Given the description of an element on the screen output the (x, y) to click on. 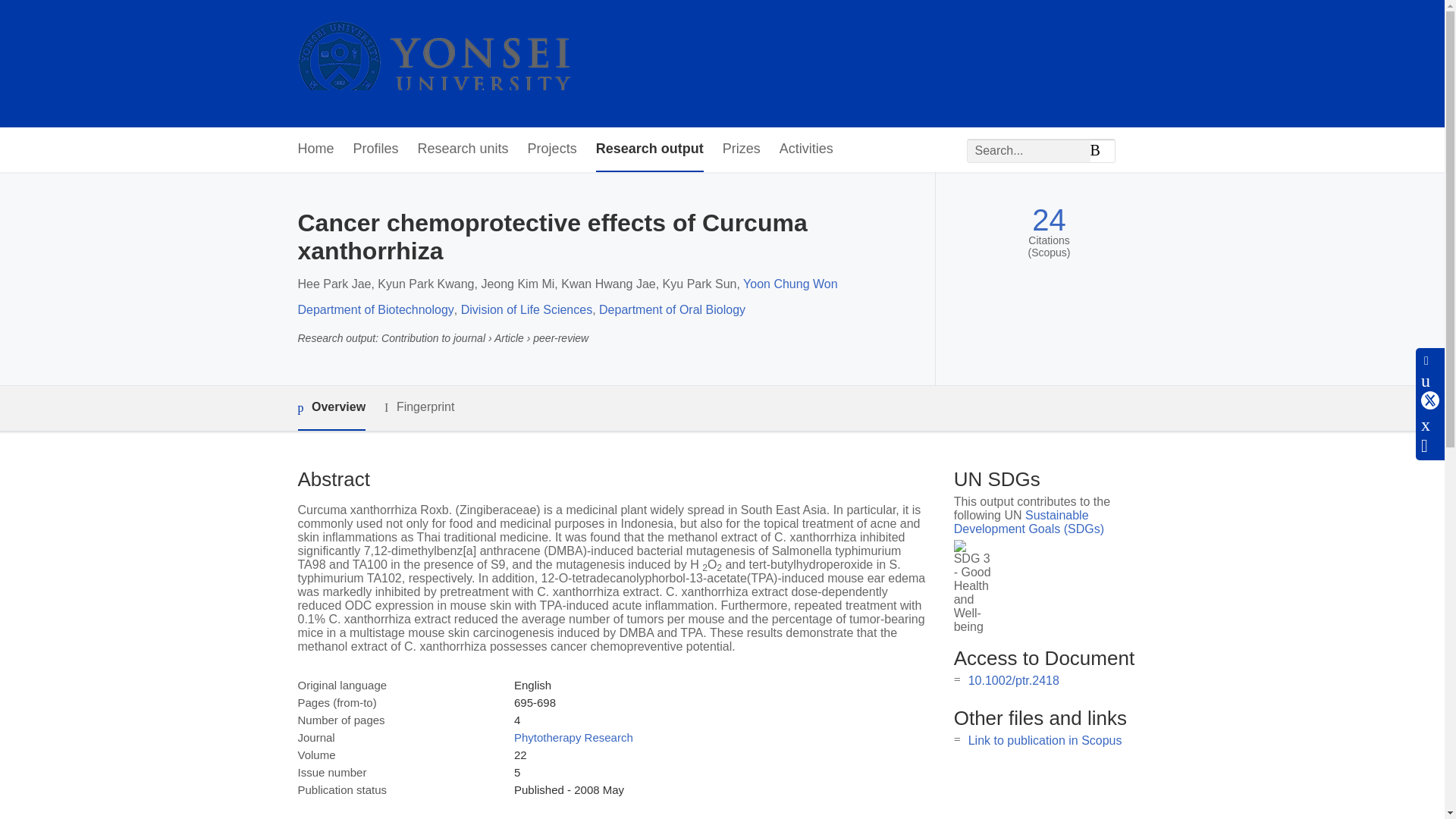
Phytotherapy Research (573, 737)
24 (1048, 220)
Department of Biotechnology (374, 309)
Fingerprint (419, 407)
Yonsei University Home (433, 63)
Activities (805, 149)
Division of Life Sciences (526, 309)
Profiles (375, 149)
Yoon Chung Won (790, 283)
Projects (551, 149)
